Given the description of an element on the screen output the (x, y) to click on. 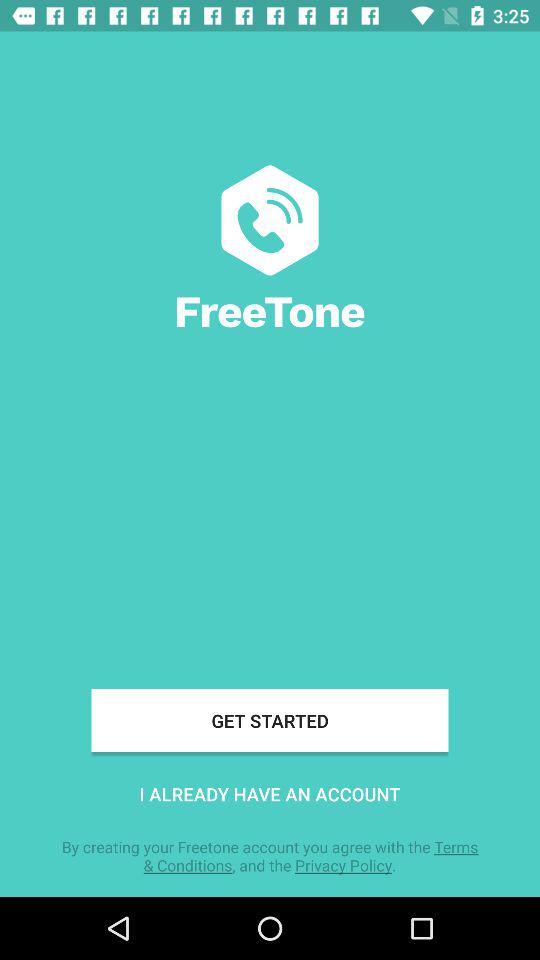
tap by creating your item (270, 856)
